Given the description of an element on the screen output the (x, y) to click on. 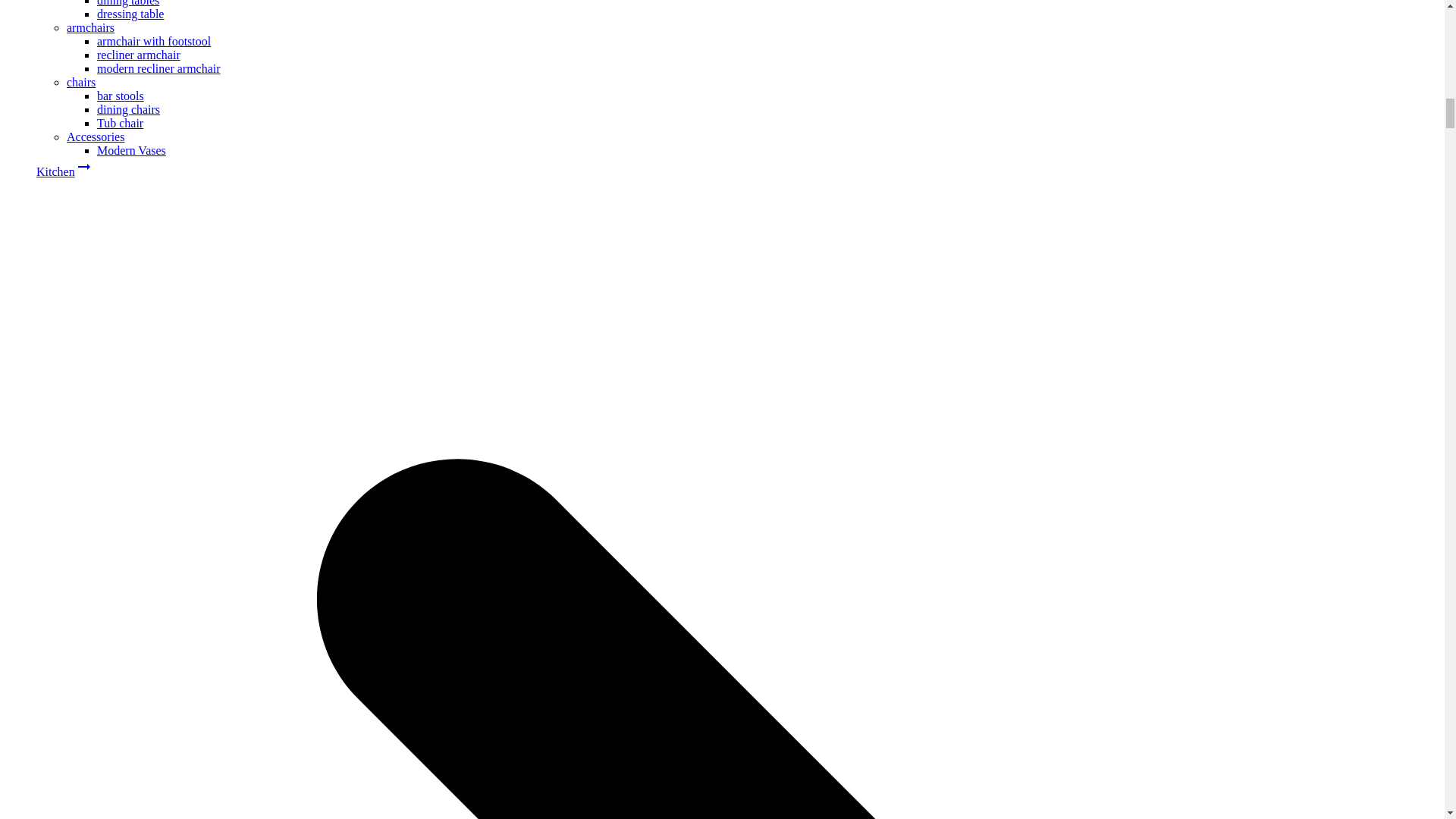
bar stools (120, 95)
armchairs (90, 27)
dining tables (127, 3)
Modern Vases (131, 150)
chairs (81, 82)
dining chairs (128, 109)
Accessories (94, 136)
recliner armchair (138, 54)
Kitchen (55, 171)
armchair with footstool (154, 41)
modern recliner armchair (159, 68)
Tub chair (119, 123)
dressing table (130, 13)
